Given the description of an element on the screen output the (x, y) to click on. 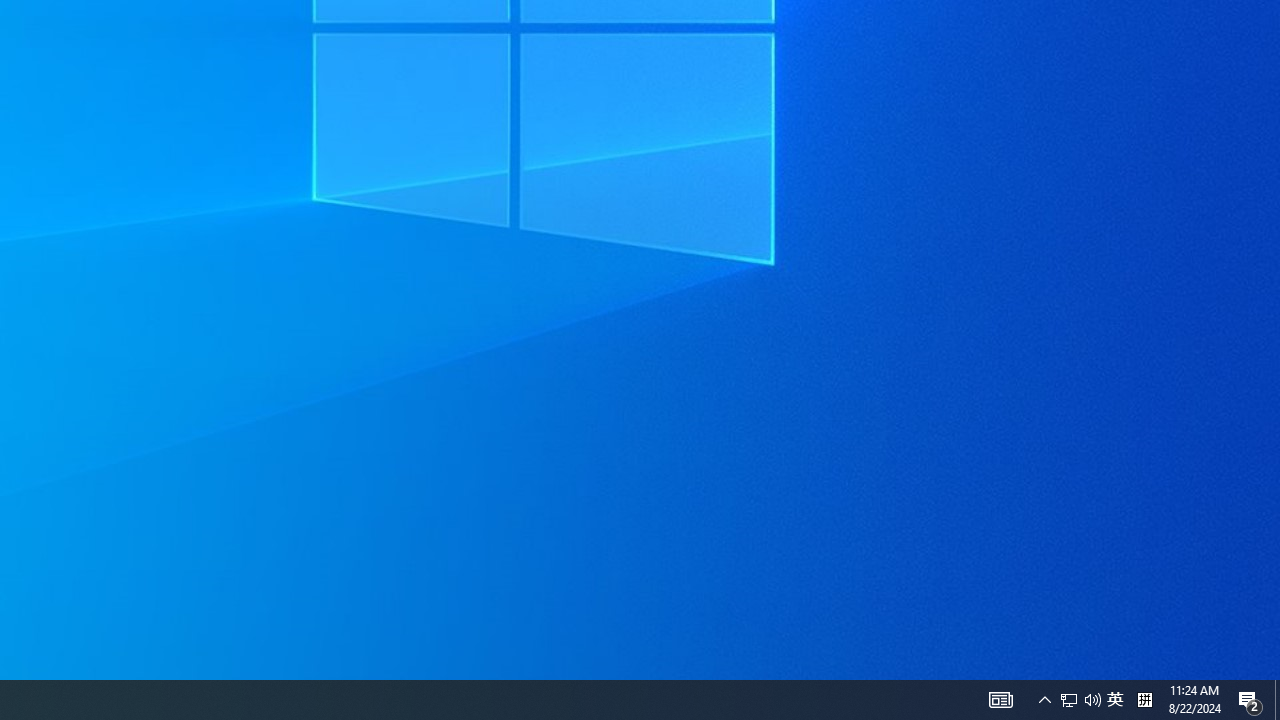
User Promoted Notification Area (1080, 699)
Notification Chevron (1044, 699)
Show desktop (1069, 699)
Tray Input Indicator - Chinese (Simplified, China) (1277, 699)
Action Center, 2 new notifications (1144, 699)
AutomationID: 4105 (1115, 699)
Q2790: 100% (1250, 699)
